Given the description of an element on the screen output the (x, y) to click on. 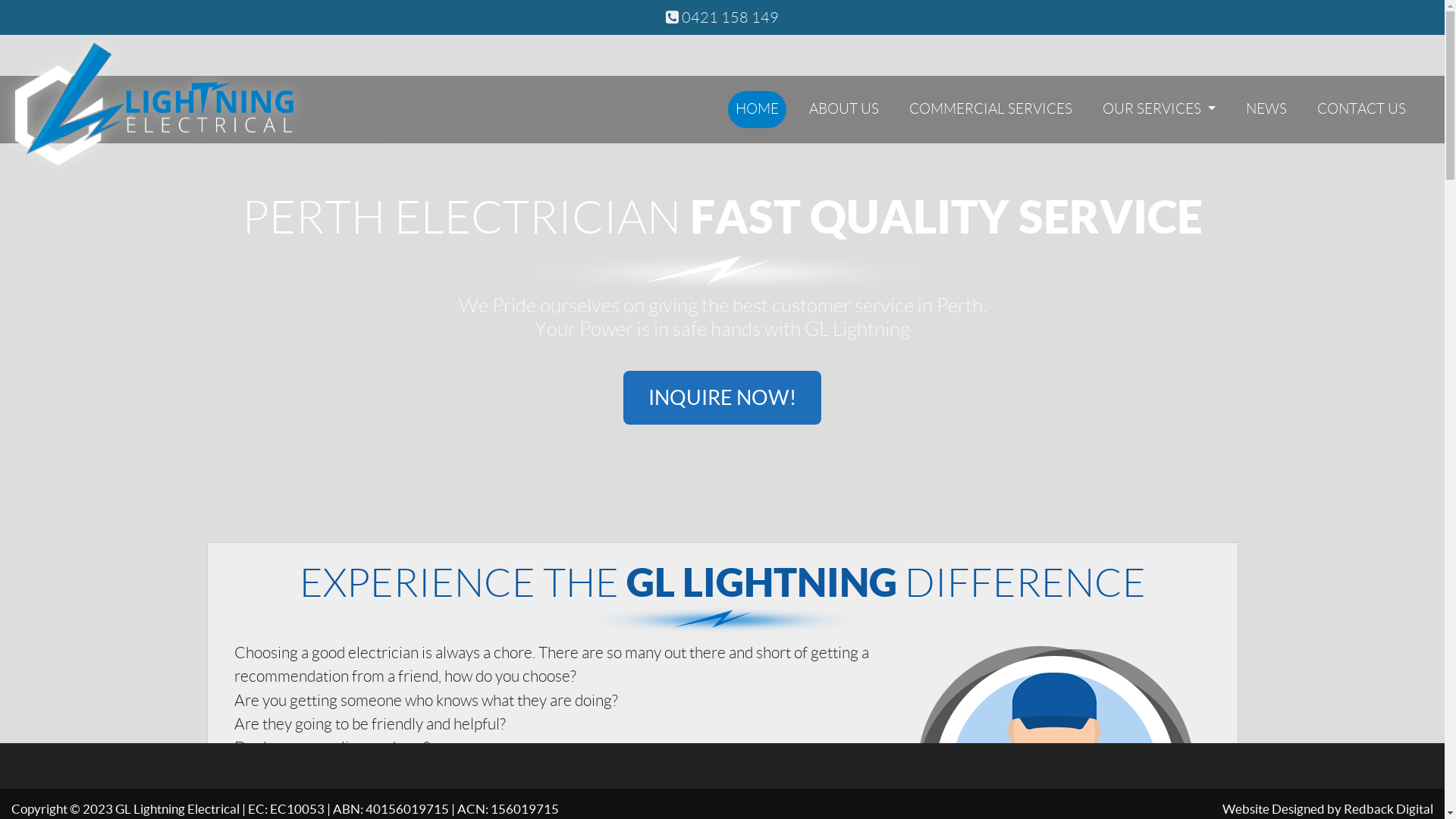
COMMERCIAL SERVICES Element type: text (990, 109)
NEWS Element type: text (1266, 109)
OUR SERVICES Element type: text (1159, 109)
Redback Digital Element type: text (1388, 808)
0421 158 149 Element type: text (722, 17)
CONTACT US Element type: text (1361, 109)
HOME Element type: text (757, 109)
INQUIRE NOW! Element type: text (722, 397)
ABOUT US Element type: text (843, 109)
